Given the description of an element on the screen output the (x, y) to click on. 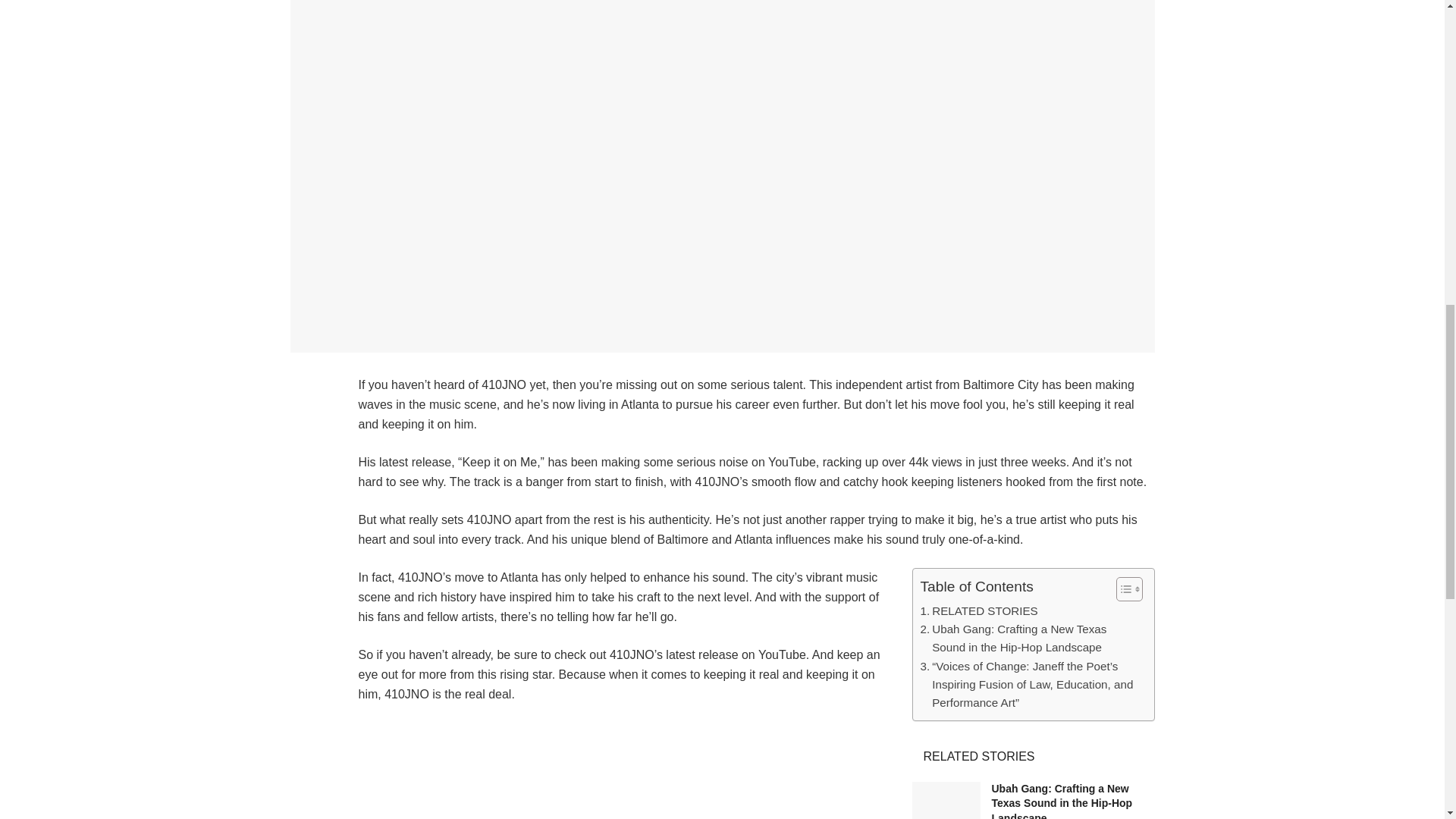
RELATED STORIES (979, 610)
RELATED STORIES (979, 610)
410JNO - Keep it on me (756, 770)
